Given the description of an element on the screen output the (x, y) to click on. 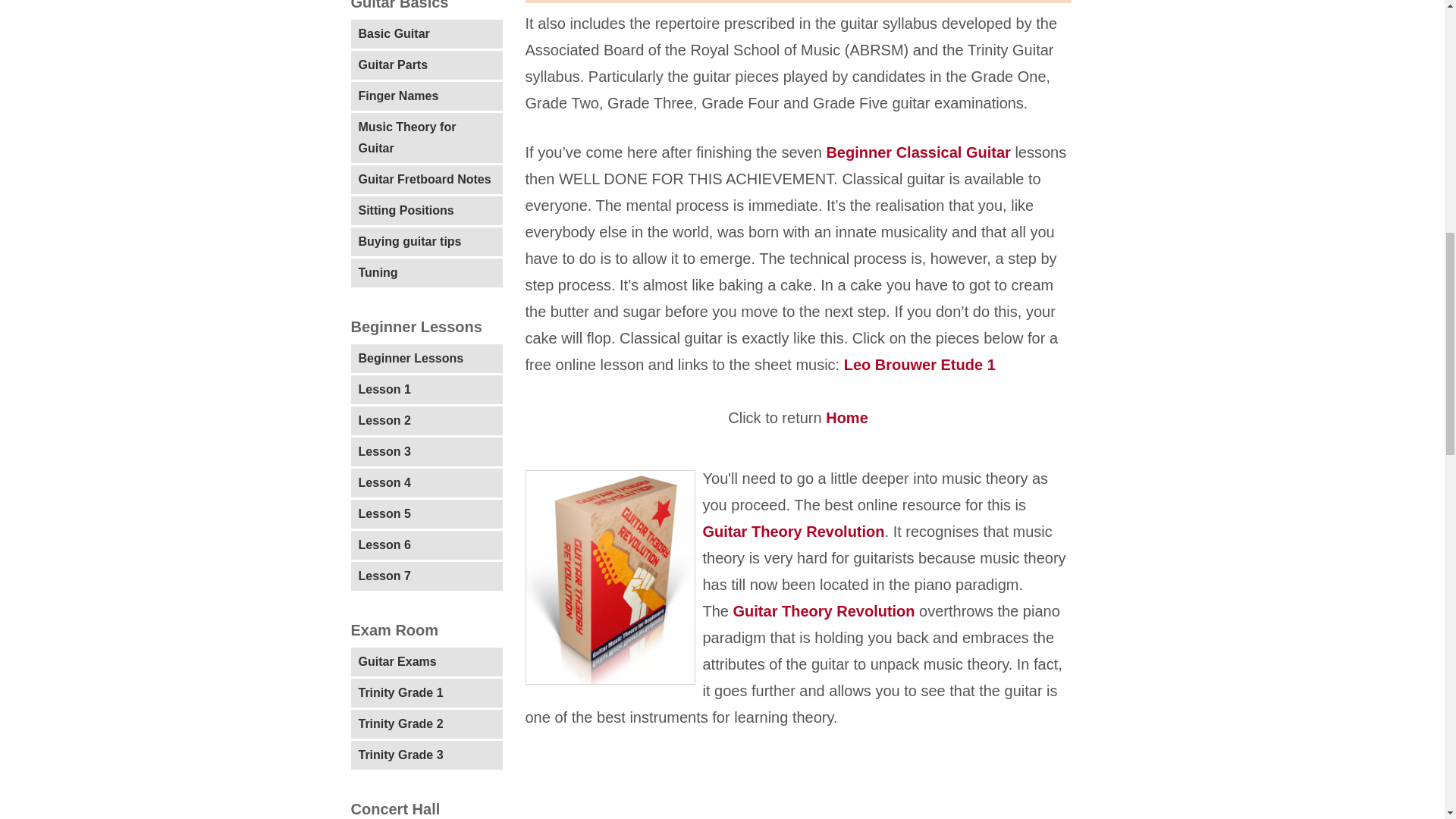
Beginner Lessons (426, 358)
Lesson 5 (426, 513)
Buying guitar tips (426, 241)
Lesson 6 (426, 544)
Music Theory for Guitar (426, 137)
Basic Guitar (426, 33)
Guitar Theory Revolution (824, 610)
Lesson 4 (426, 482)
Home (844, 417)
Finger Names (426, 95)
Guitar Fretboard Notes (426, 179)
Guitar Theory Revolution (792, 531)
Beginner Classical Guitar (919, 152)
Leo Brouwer Etude 1 (919, 364)
Lesson 3 (426, 451)
